Given the description of an element on the screen output the (x, y) to click on. 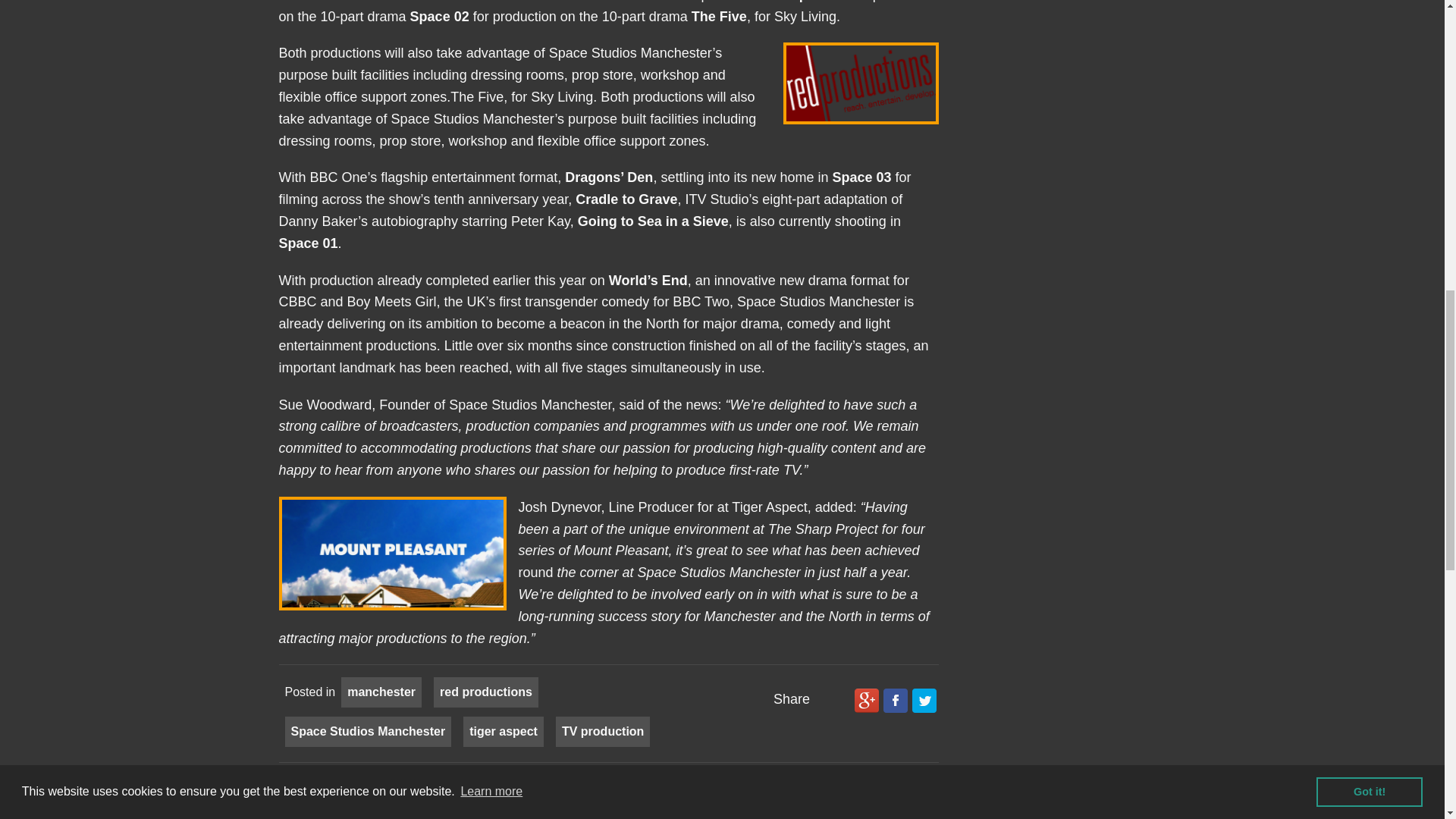
Go back to all posts (619, 789)
Next Post (896, 793)
TV production (602, 730)
red productions (485, 691)
tiger aspect (502, 730)
Cradle to Grave (626, 199)
manchester (380, 691)
Previous Post (331, 793)
The Five (718, 16)
Space Studios Manchester (368, 730)
